Given the description of an element on the screen output the (x, y) to click on. 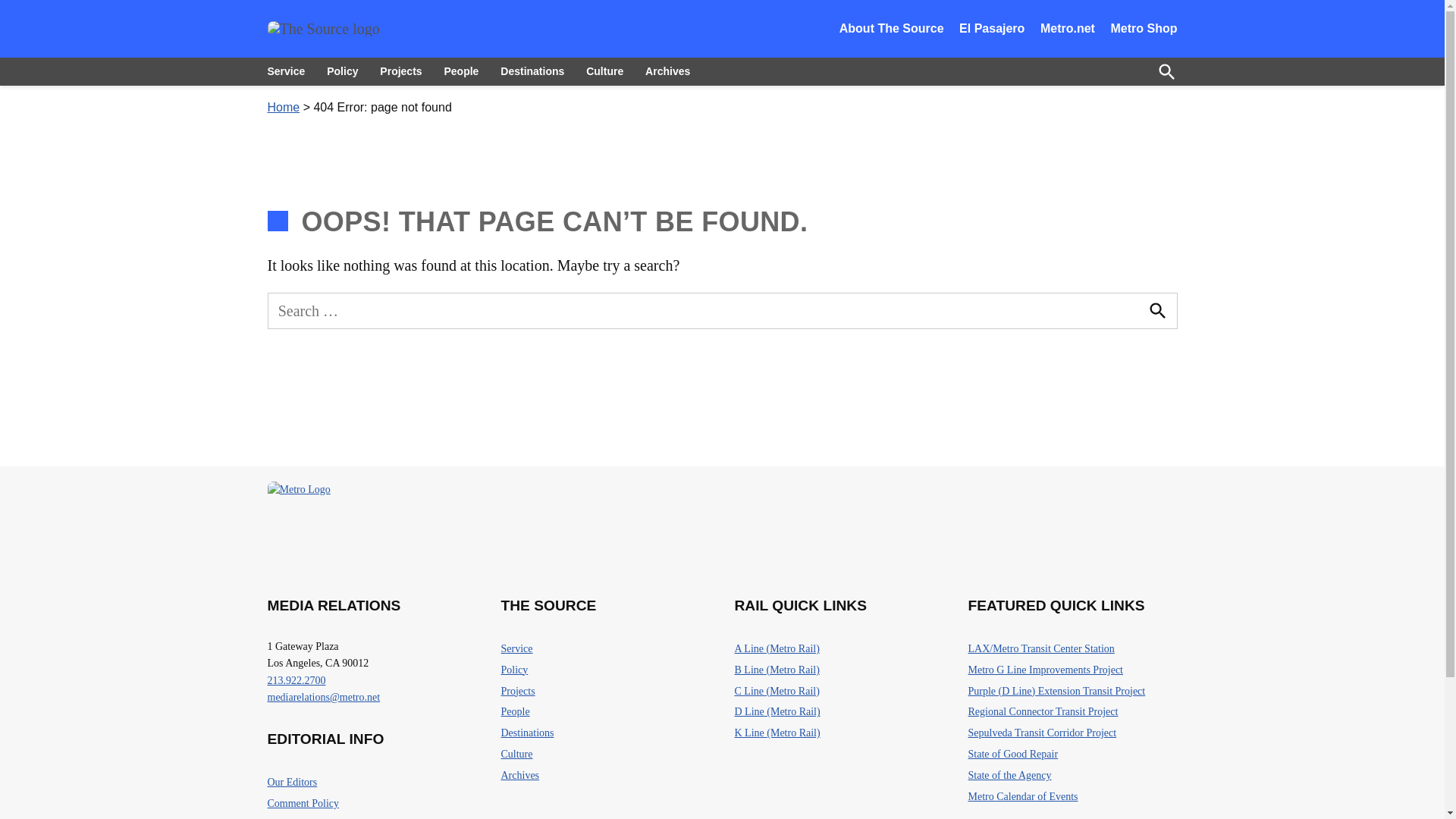
Culture (604, 71)
Service (516, 648)
Comment Policy (302, 803)
Our Editors (291, 783)
The Source (417, 49)
Service (289, 71)
Archives (667, 71)
Destinations (532, 71)
Projects (400, 71)
Search (1156, 310)
